Given the description of an element on the screen output the (x, y) to click on. 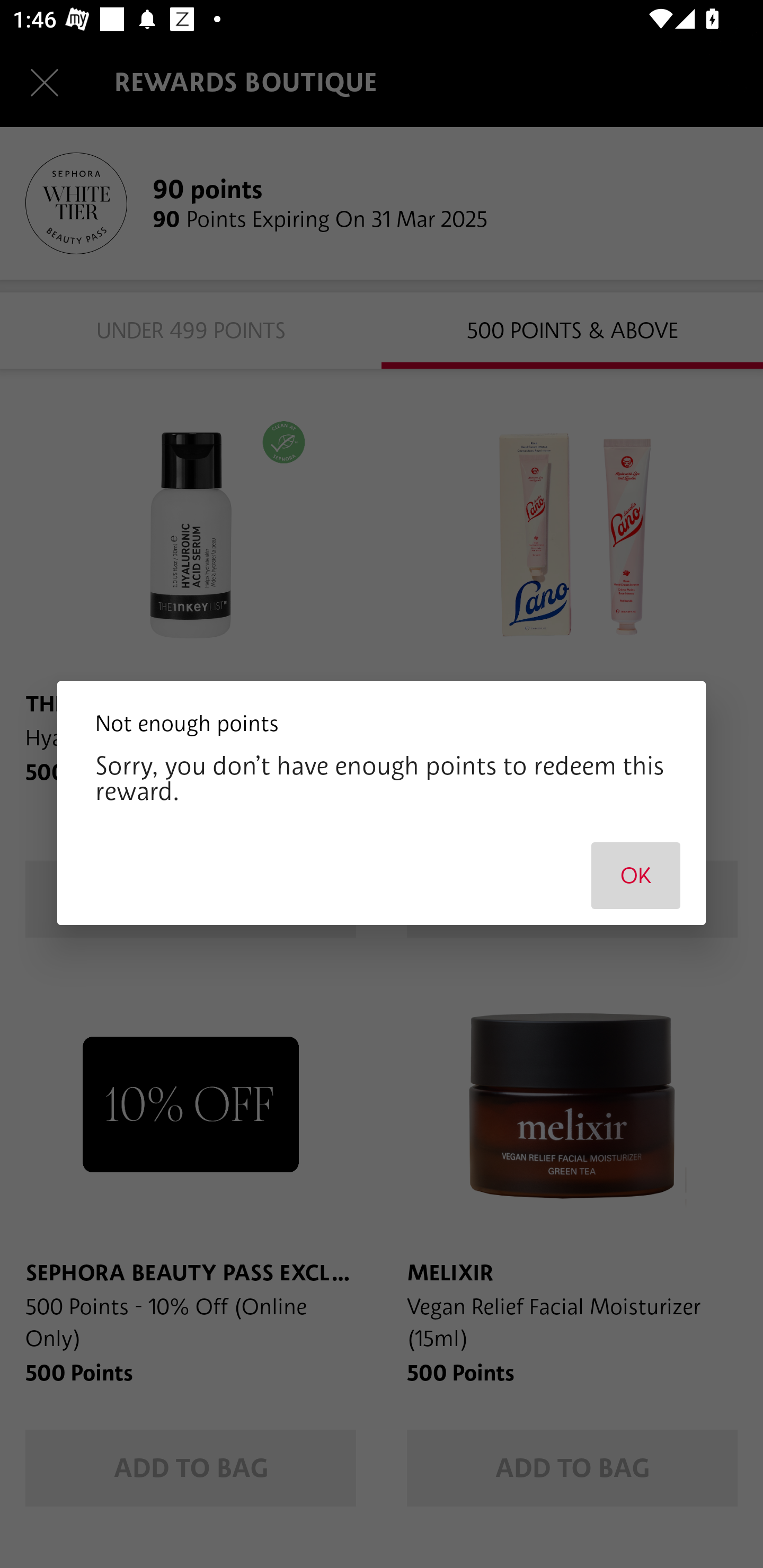
OK (635, 875)
